Given the description of an element on the screen output the (x, y) to click on. 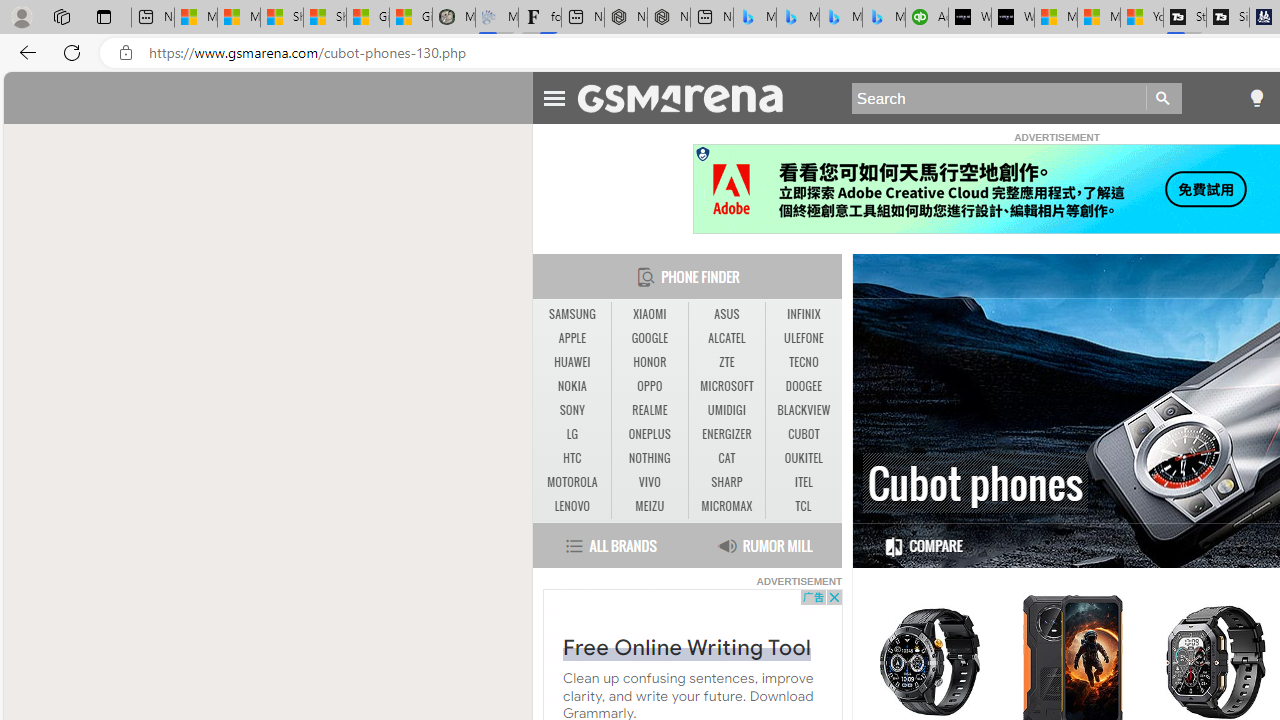
BLACKVIEW (803, 411)
ZTE (726, 362)
Streaming Coverage | T3 (1184, 17)
OUKITEL (803, 458)
CUBOT (803, 434)
AutomationID: anchor (689, 97)
Free Online Writing Tool (686, 646)
UMIDIGI (726, 411)
INFINIX (803, 313)
CUBOT (803, 434)
TCL (803, 506)
XIAOMI (649, 313)
